Given the description of an element on the screen output the (x, y) to click on. 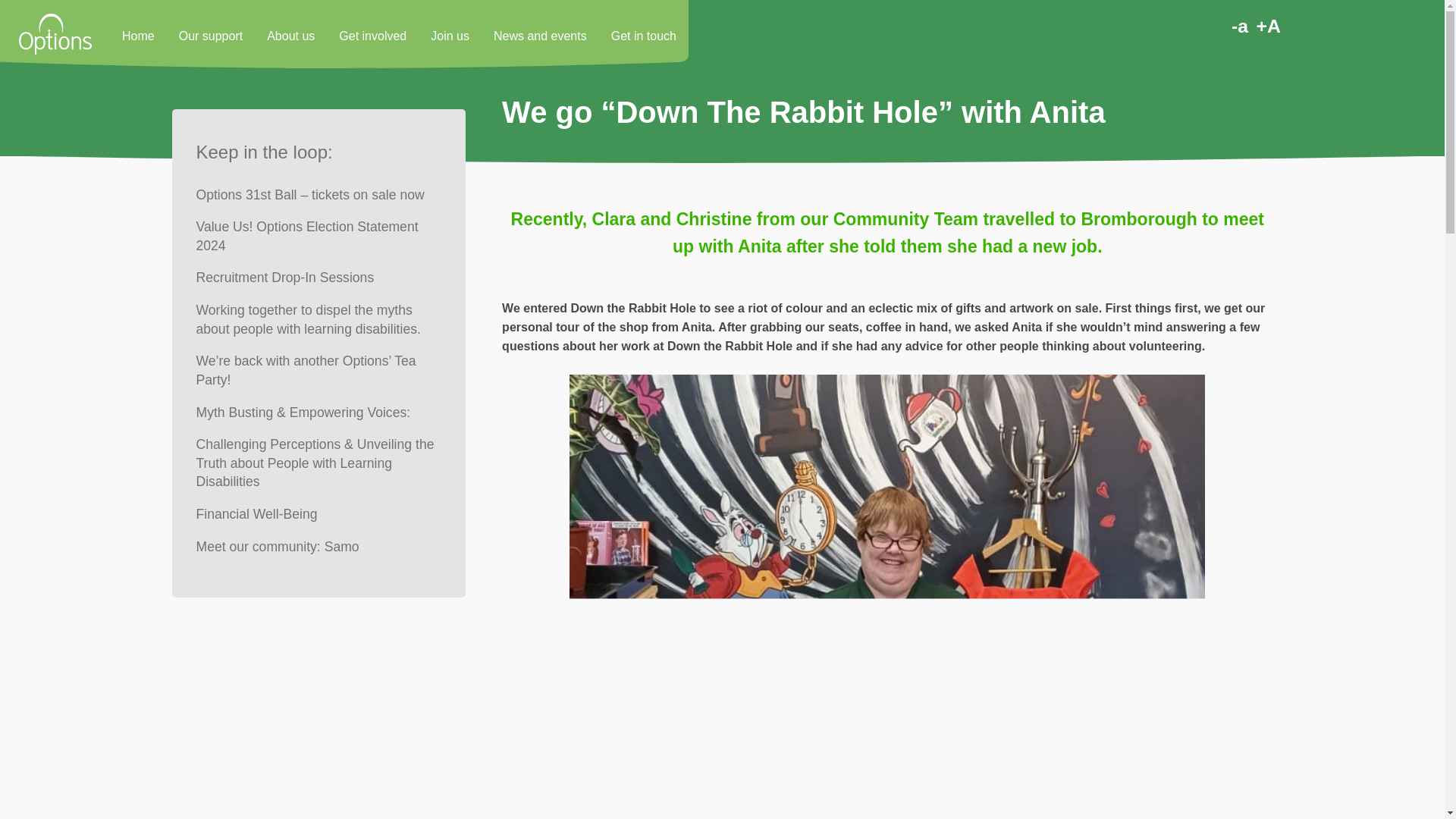
Value Us! Options Election Statement 2024 (318, 235)
Financial Well-Being (256, 514)
Increase document font size (1267, 26)
Get involved (372, 33)
About us (290, 33)
Get in touch (643, 33)
Recruitment Drop-In Sessions (284, 277)
Options (55, 33)
News and events (539, 33)
